Given the description of an element on the screen output the (x, y) to click on. 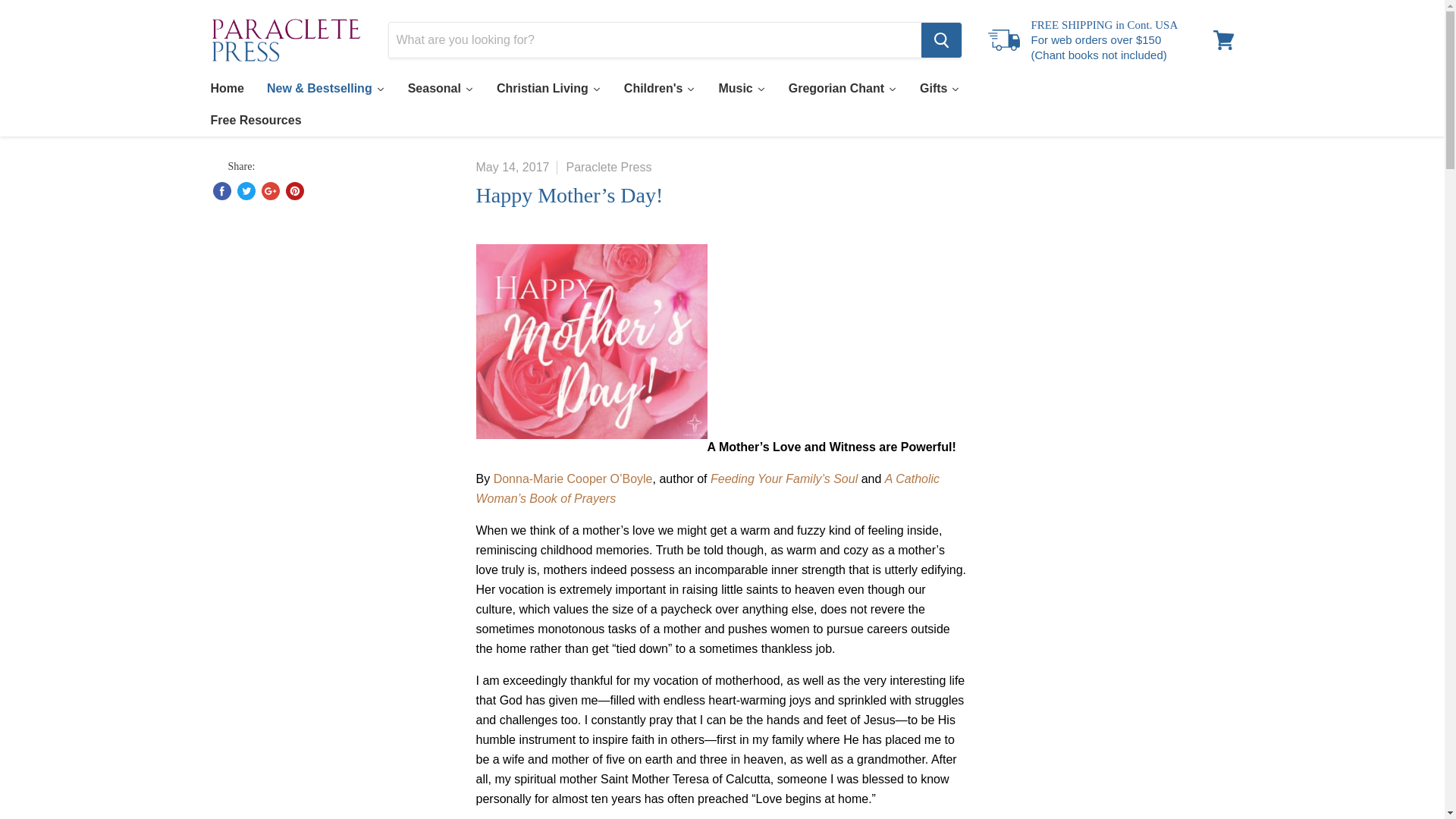
Home (226, 88)
View cart (1223, 39)
